Given the description of an element on the screen output the (x, y) to click on. 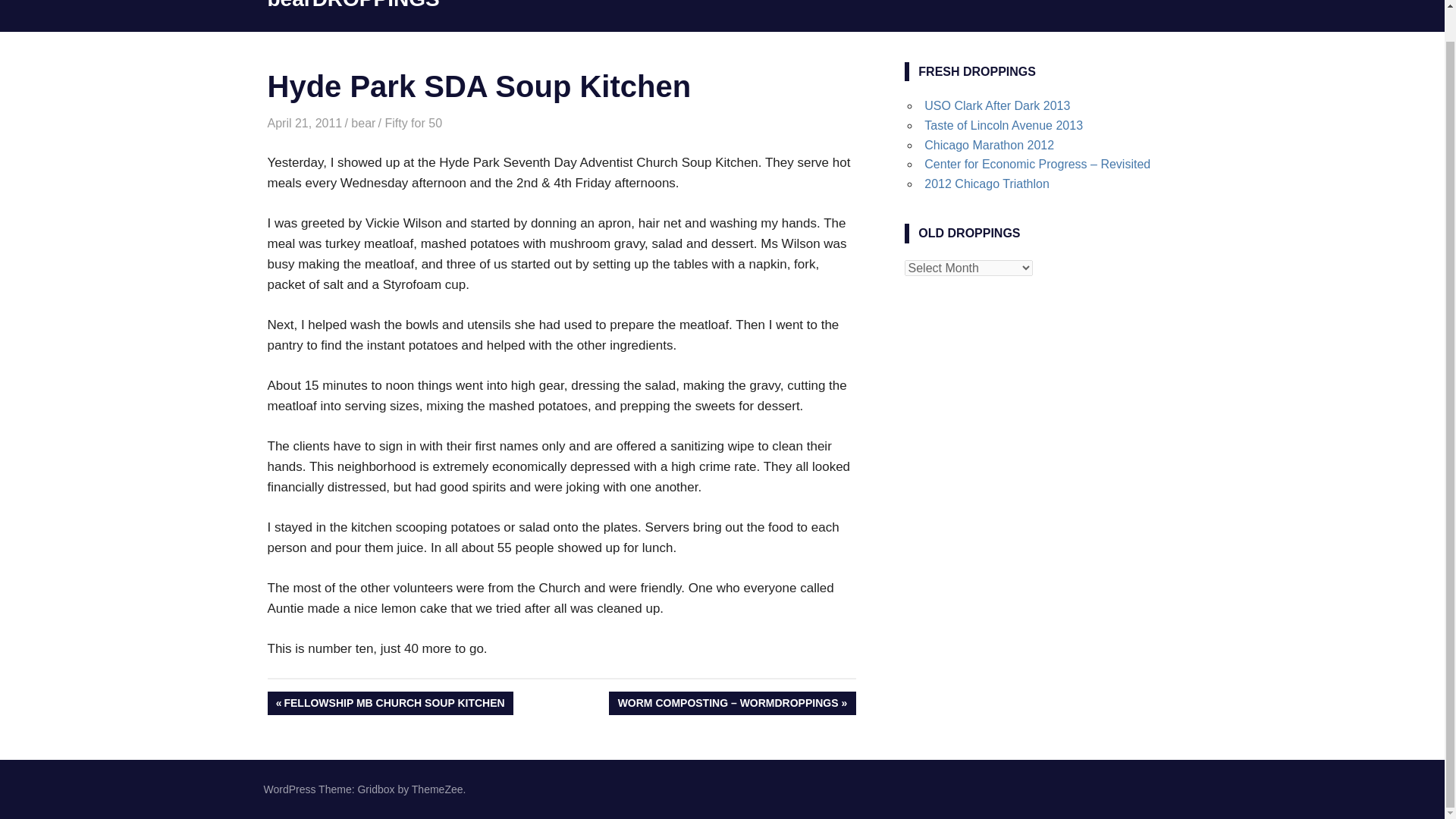
USO Clark After Dark 2013 (997, 105)
Fifty for 50 (413, 123)
bear (362, 123)
2012 Chicago Triathlon (389, 702)
April 21, 2011 (986, 183)
Taste of Lincoln Avenue 2013 (304, 123)
11:01 pm (1003, 124)
View all posts by bear (304, 123)
bearDROPPINGS (362, 123)
